Given the description of an element on the screen output the (x, y) to click on. 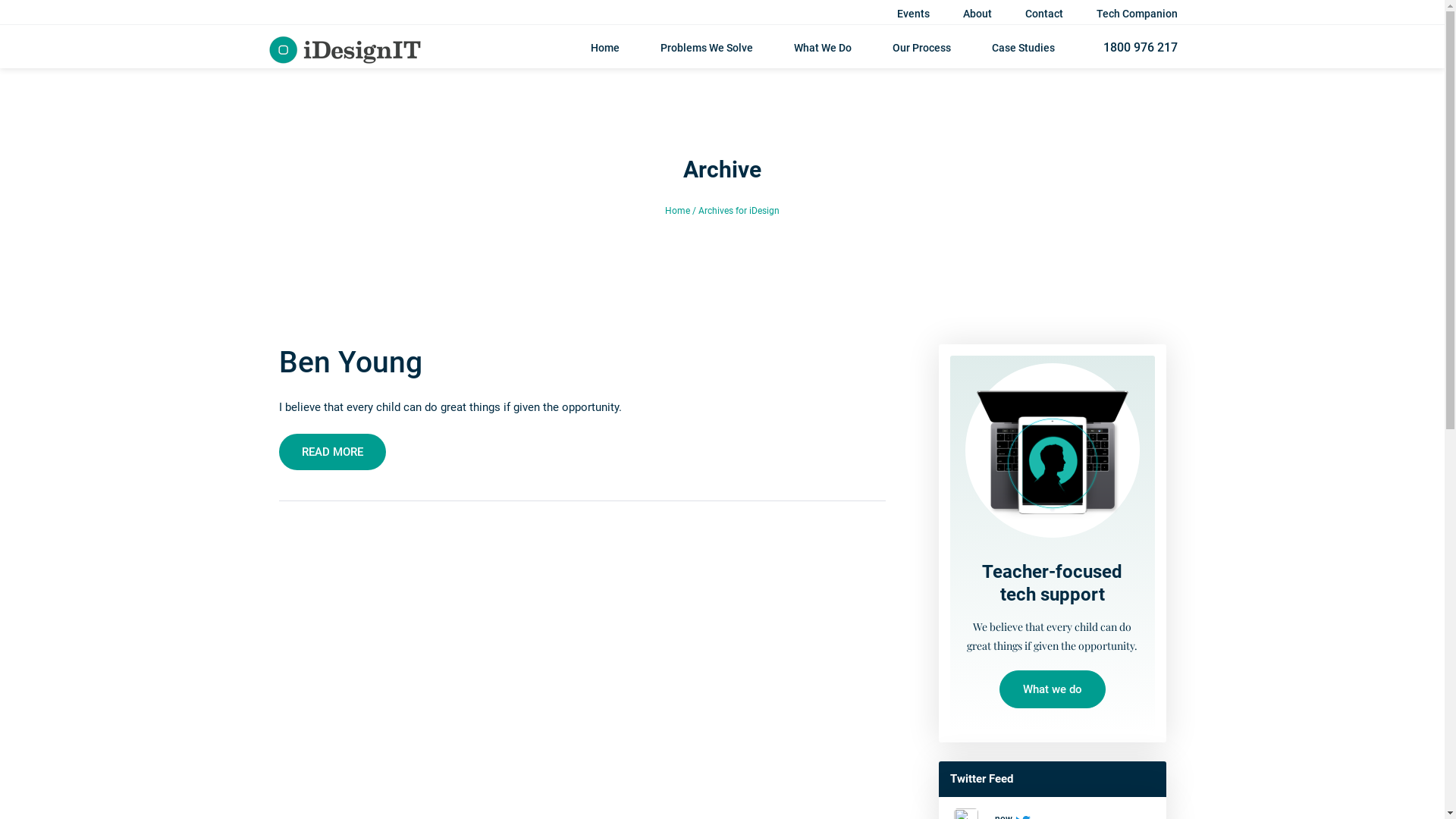
What We Do Element type: text (821, 53)
Events Element type: text (912, 13)
Tech Companion Element type: text (1136, 13)
Home Element type: text (603, 53)
Problems We Solve Element type: text (705, 53)
About Element type: text (977, 13)
Case Studies Element type: text (1022, 53)
iDesignIT Element type: hover (345, 47)
What we do Element type: text (1052, 689)
READ MORE Element type: text (332, 451)
1800 976 217 Element type: text (1135, 47)
Contact Element type: text (1044, 13)
Our Process Element type: text (920, 53)
Search Element type: text (1108, 26)
Ben Young Element type: text (350, 362)
Home Element type: text (677, 210)
